Given the description of an element on the screen output the (x, y) to click on. 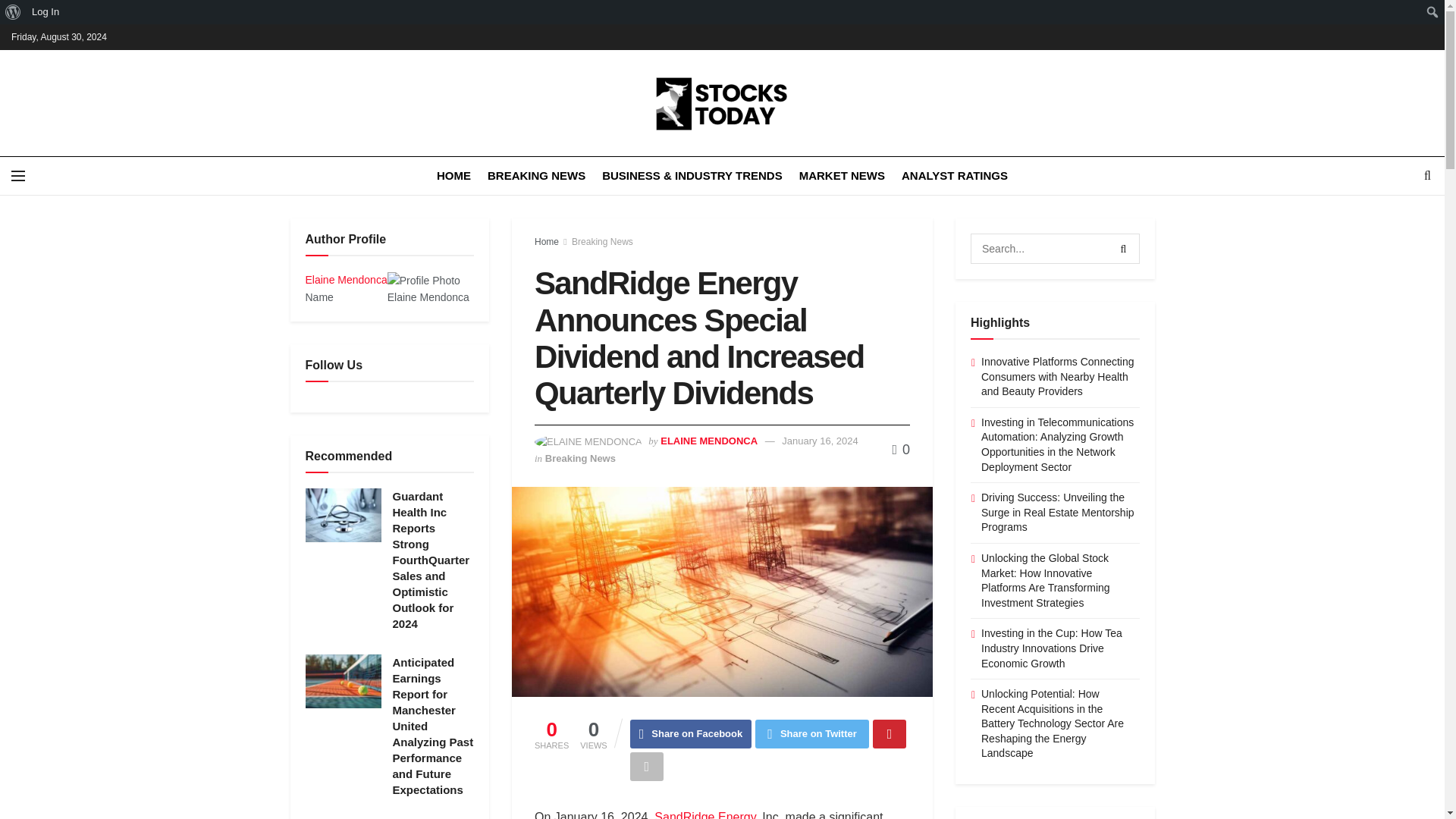
BREAKING NEWS (536, 175)
Share on Facebook (691, 733)
HOME (453, 175)
Home (546, 241)
MARKET NEWS (842, 175)
SandRidge Energy (702, 814)
ELAINE MENDONCA (709, 440)
Share on Twitter (812, 733)
Breaking News (602, 241)
0 (900, 449)
